Given the description of an element on the screen output the (x, y) to click on. 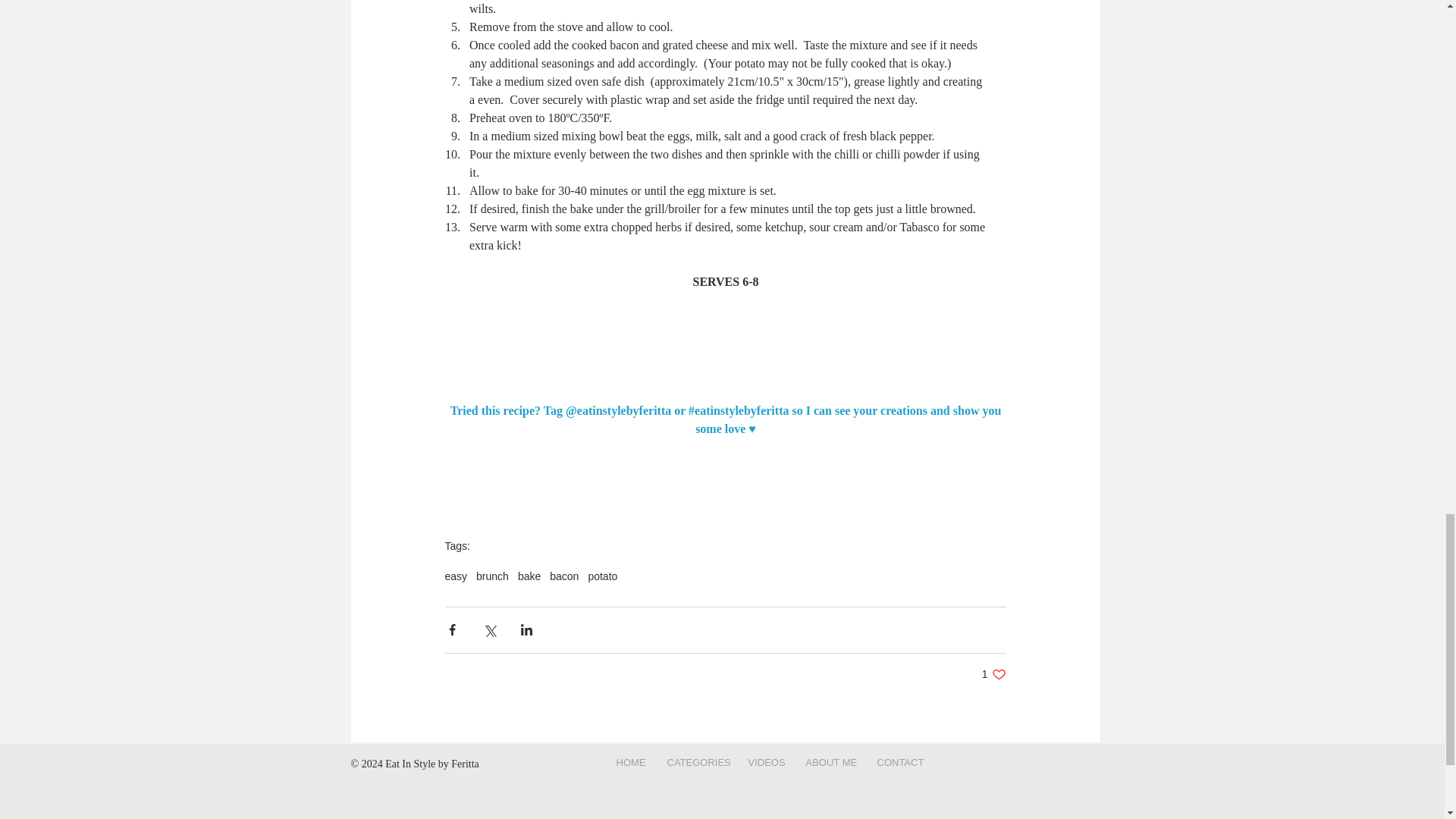
HOME (630, 762)
VIDEOS (993, 674)
potato (765, 762)
brunch (602, 576)
ABOUT ME (492, 576)
CONTACT (830, 762)
easy (900, 762)
bake (455, 576)
bacon (529, 576)
